Given the description of an element on the screen output the (x, y) to click on. 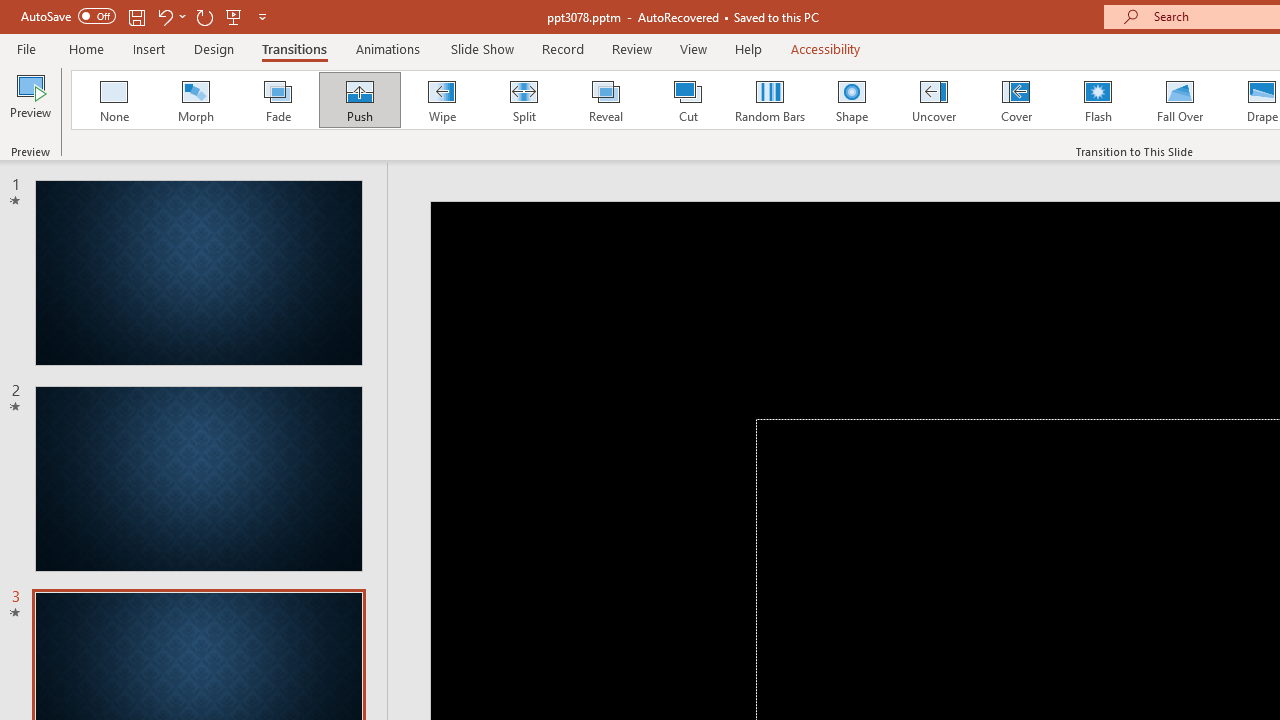
Morph (195, 100)
Flash (1098, 100)
